Given the description of an element on the screen output the (x, y) to click on. 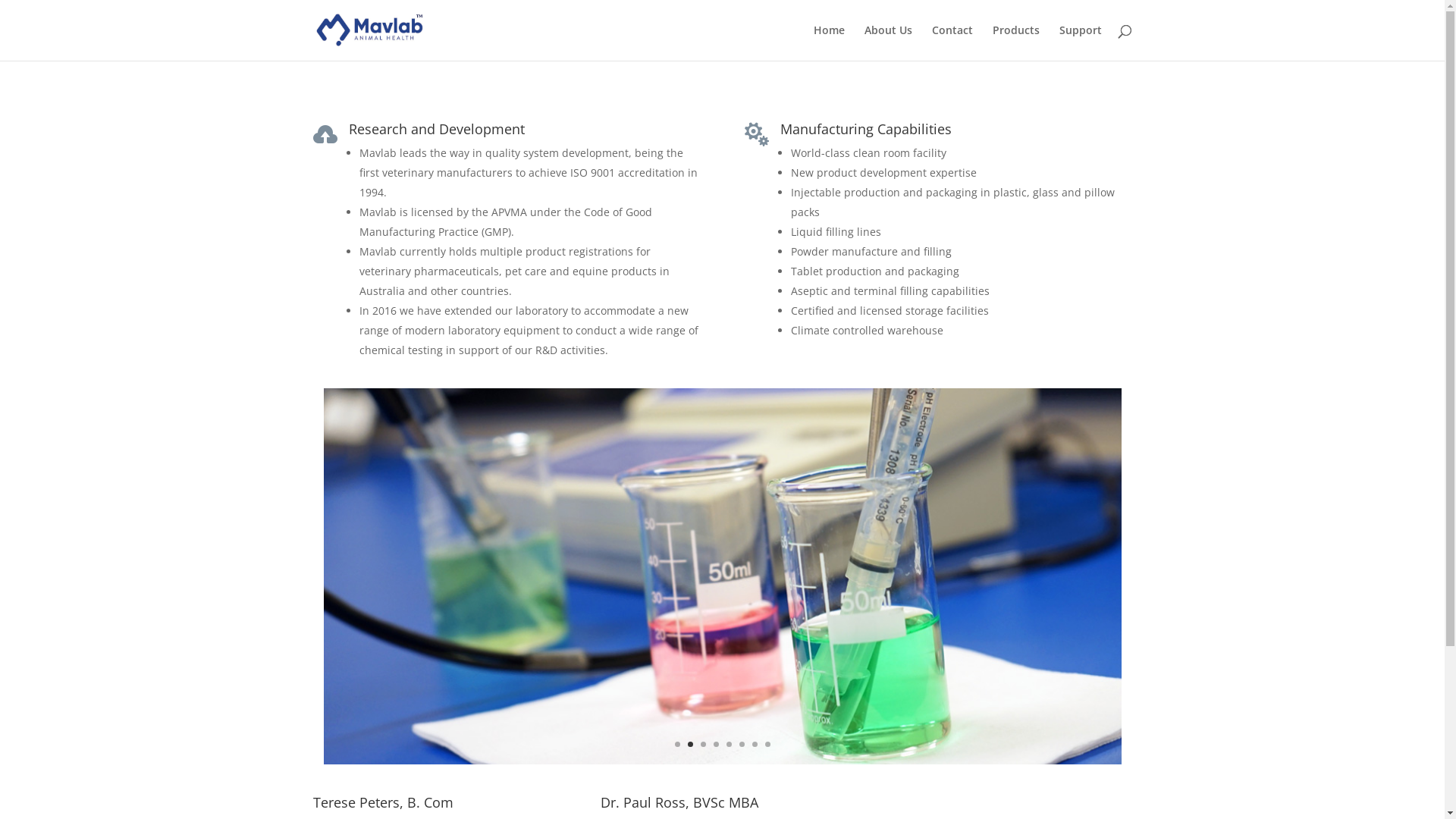
6 Element type: text (740, 743)
Products Element type: text (1014, 42)
3 Element type: text (703, 743)
8 Element type: text (766, 743)
Contact Element type: text (951, 42)
slide6 Element type: hover (721, 760)
Home Element type: text (828, 42)
7 Element type: text (754, 743)
5 Element type: text (728, 743)
1 Element type: text (677, 743)
2 Element type: text (689, 743)
About Us Element type: text (888, 42)
4 Element type: text (715, 743)
Support Element type: text (1079, 42)
